Given the description of an element on the screen output the (x, y) to click on. 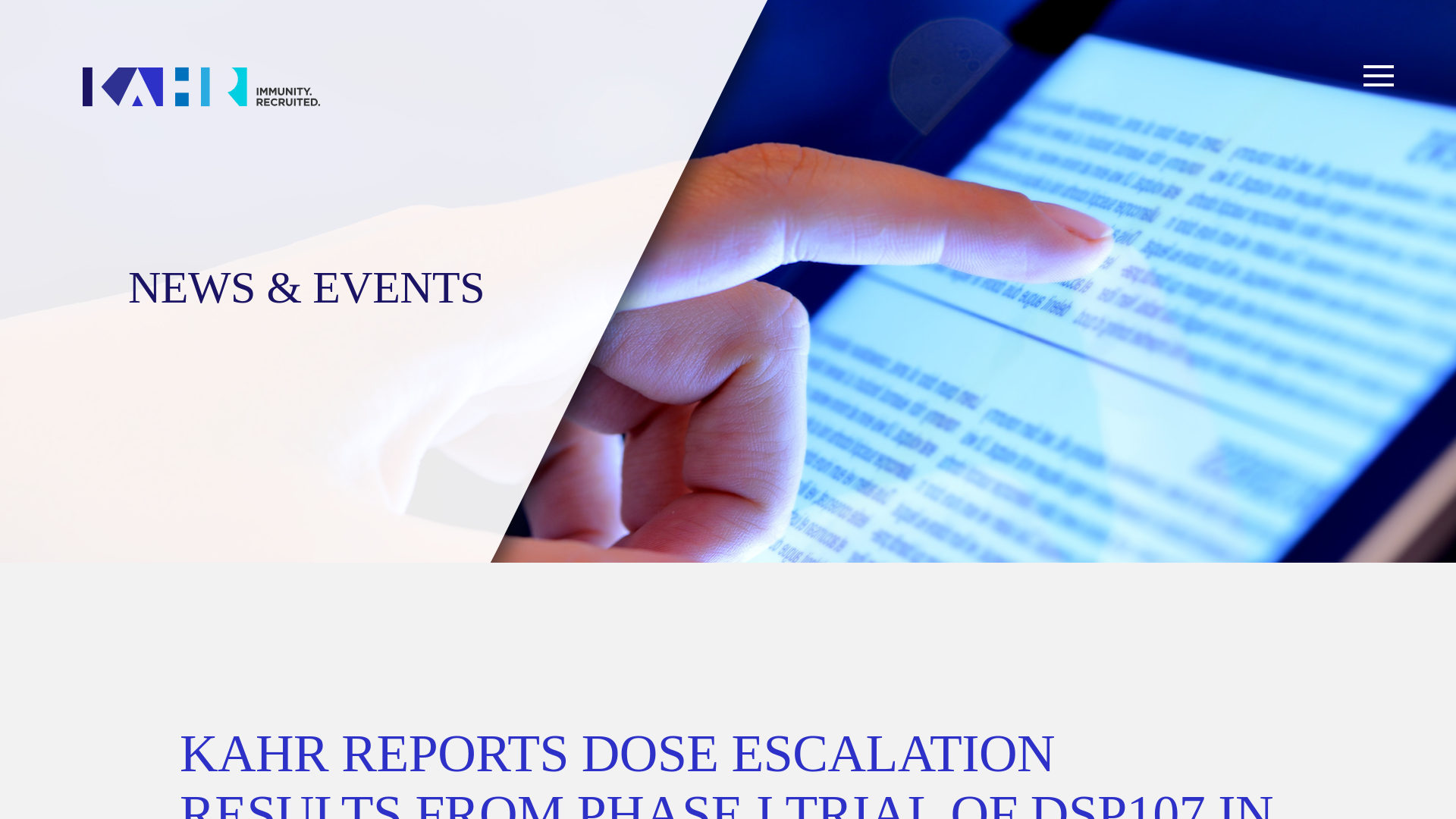
KAHR - Immunity. Recruited. (201, 86)
